Given the description of an element on the screen output the (x, y) to click on. 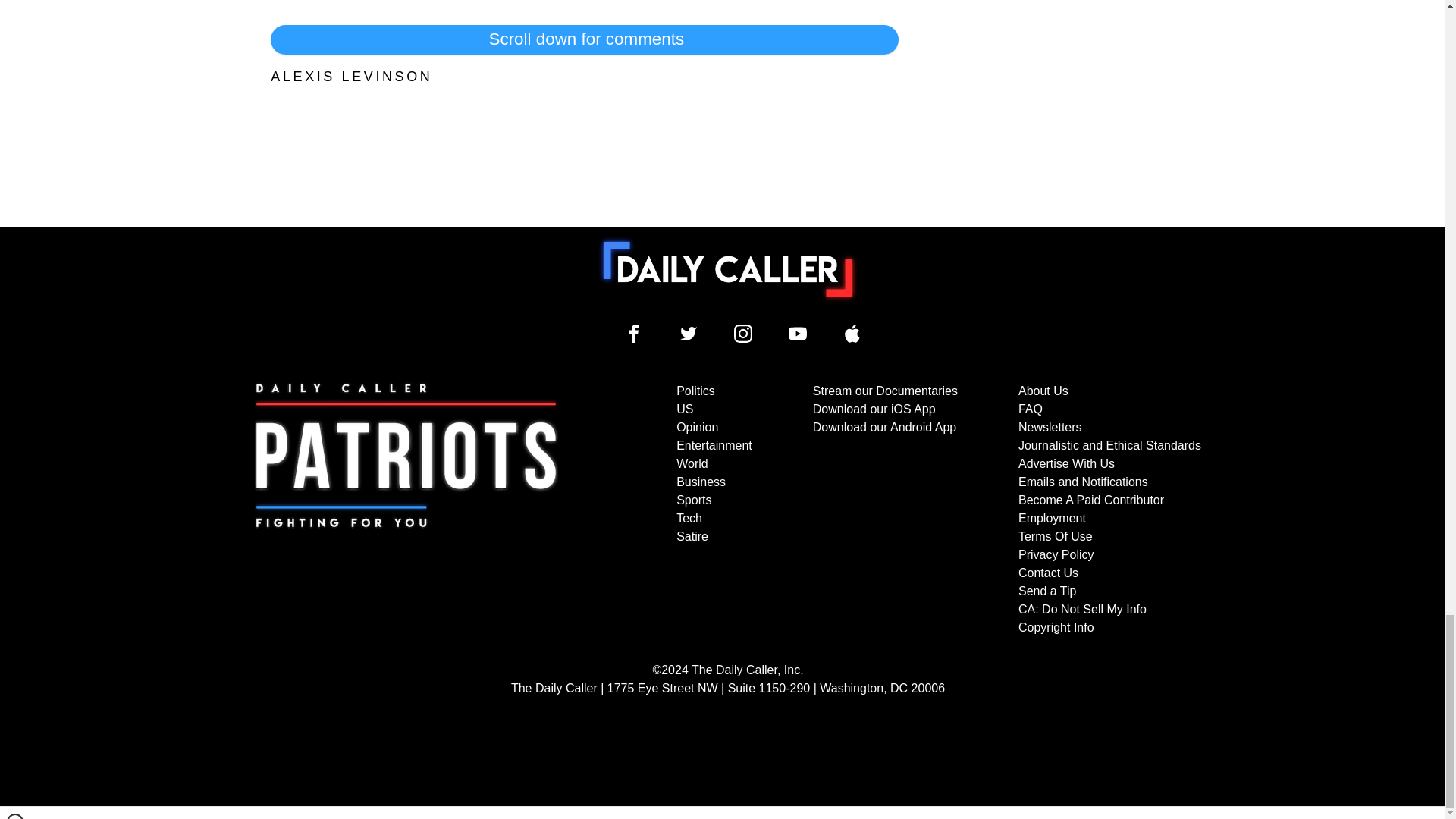
Subscribe to The Daily Caller (405, 509)
Scroll down for comments (584, 39)
Daily Caller Facebook (633, 333)
Daily Caller Twitter (688, 333)
Daily Caller Instagram (742, 333)
Daily Caller YouTube (797, 333)
Daily Caller YouTube (852, 333)
To home page (727, 268)
